Given the description of an element on the screen output the (x, y) to click on. 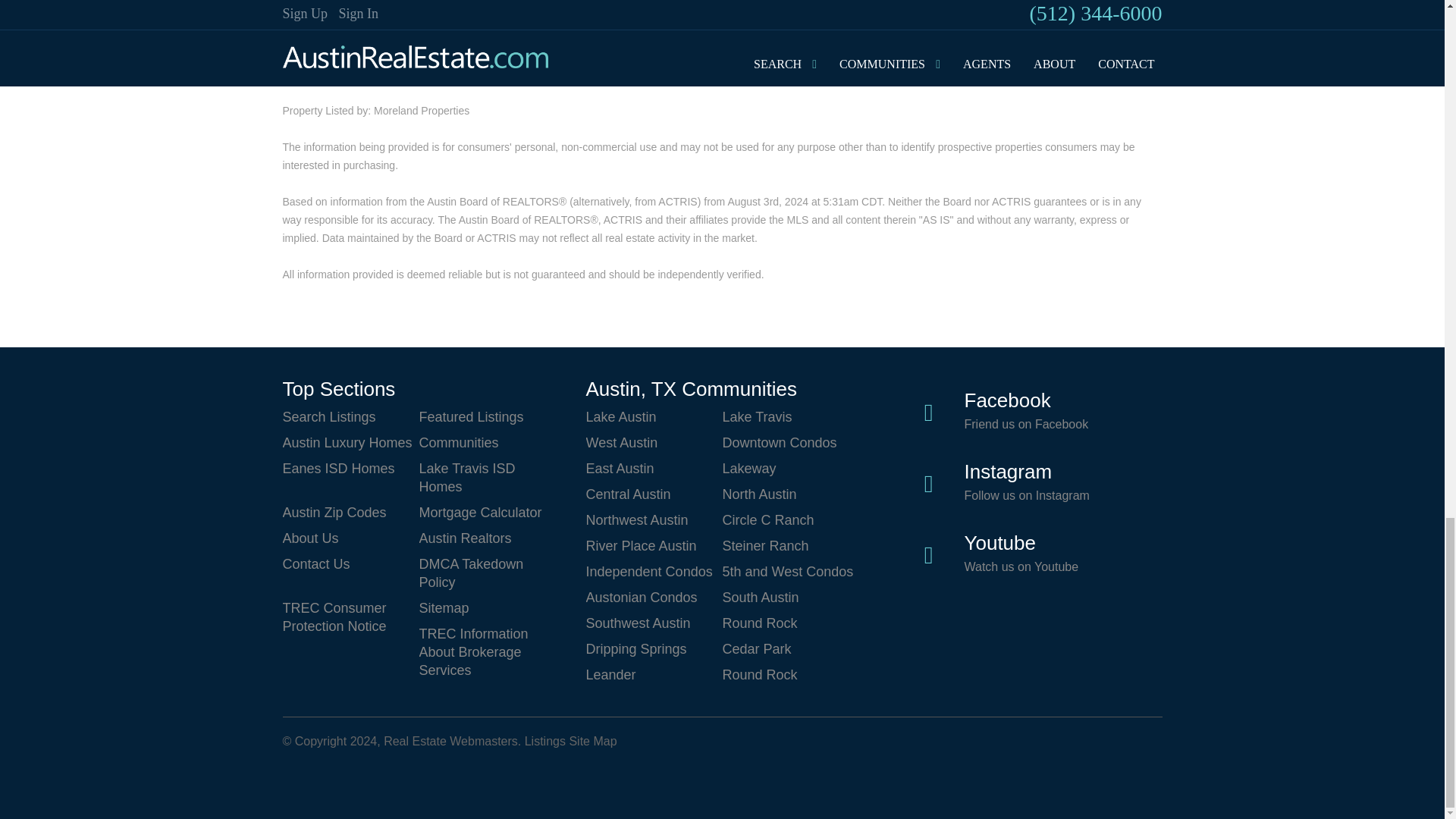
Real Estate Web Design By Real Estate Webmasters (317, 776)
